Given the description of an element on the screen output the (x, y) to click on. 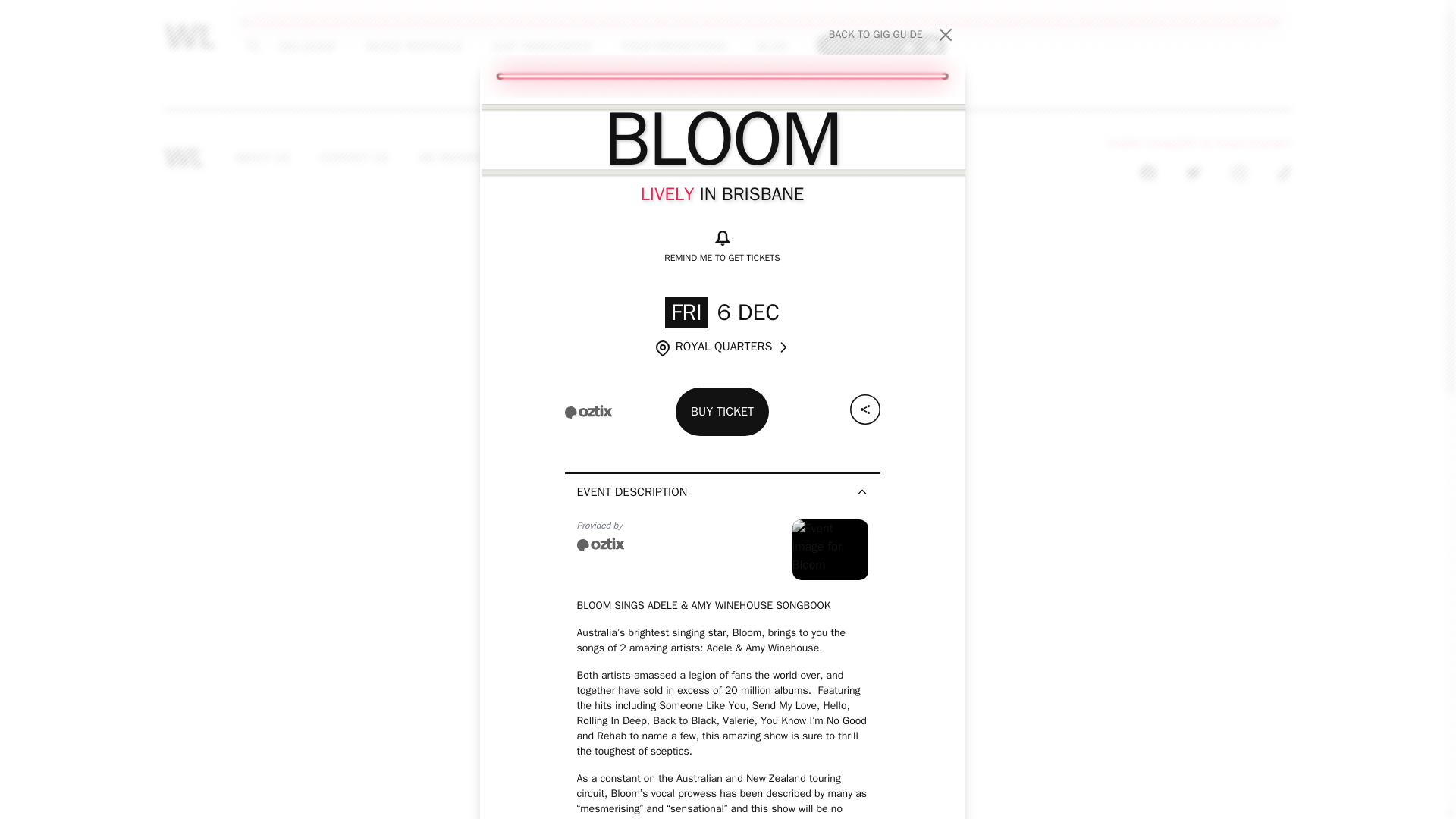
GIG GUIDE (306, 45)
TOUR PREDICTIONS (673, 45)
BLOG (771, 45)
ABOUT US (261, 157)
GET APP NOW (892, 34)
MARKETING AGENCY (881, 44)
CONTACT US (768, 157)
WE MISSING A GIG? (354, 157)
ADVERTISE YOUR TOUR (472, 157)
MUSIC FESTIVALS (619, 157)
JUST ANNOUNCED (413, 45)
